Given the description of an element on the screen output the (x, y) to click on. 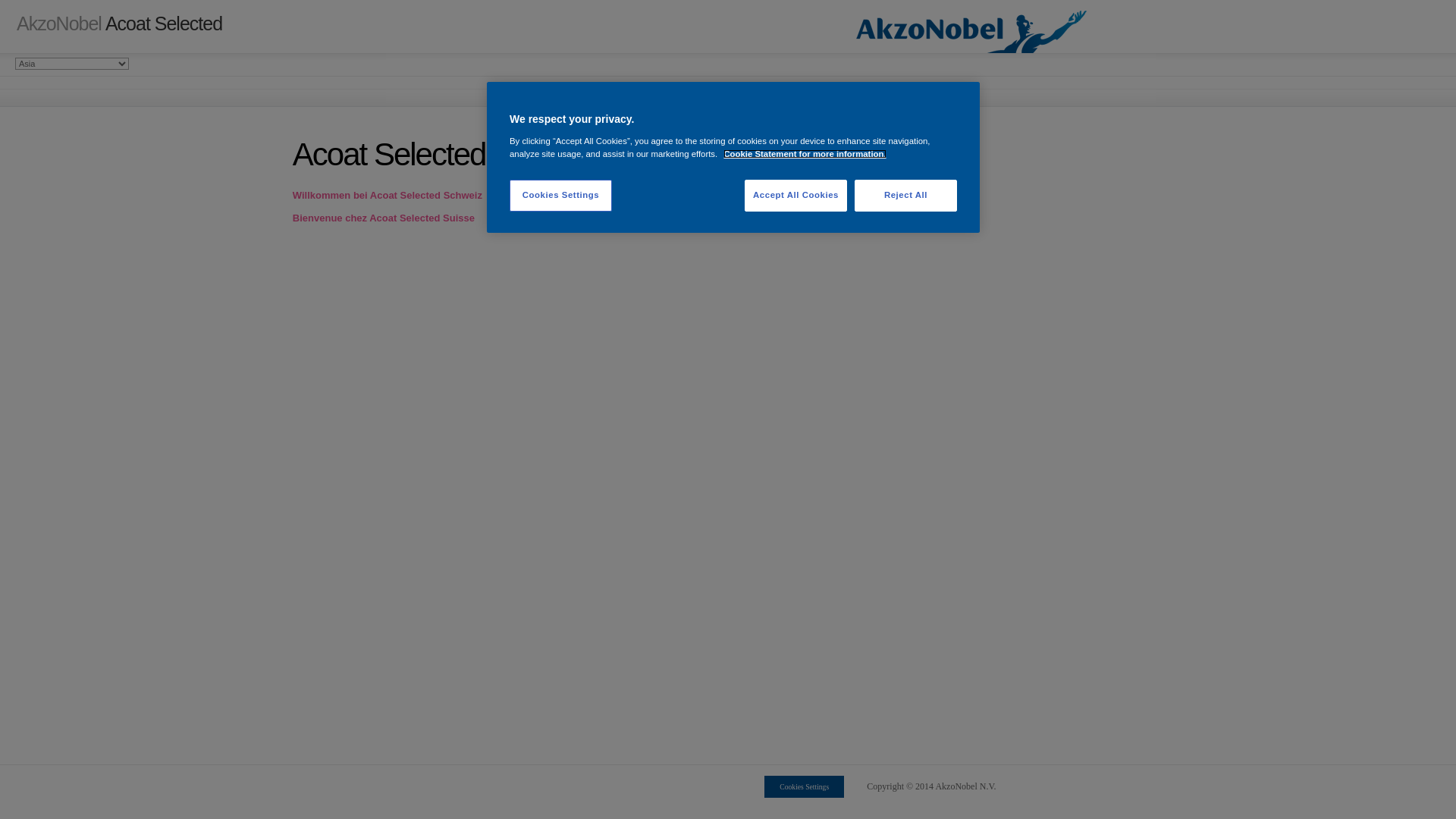
Cookies Settings Element type: text (804, 786)
Willkommen bei Acoat Selected Schweiz Element type: text (387, 194)
Cookie Statement for more information. Element type: text (804, 153)
AkzoNobel Element type: text (58, 23)
Accept All Cookies Element type: text (795, 195)
Bienvenue chez Acoat Selected Suisse Element type: text (383, 217)
Cookies Settings Element type: text (560, 195)
Reject All Element type: text (905, 195)
Acoat Selected Element type: text (163, 23)
